Given the description of an element on the screen output the (x, y) to click on. 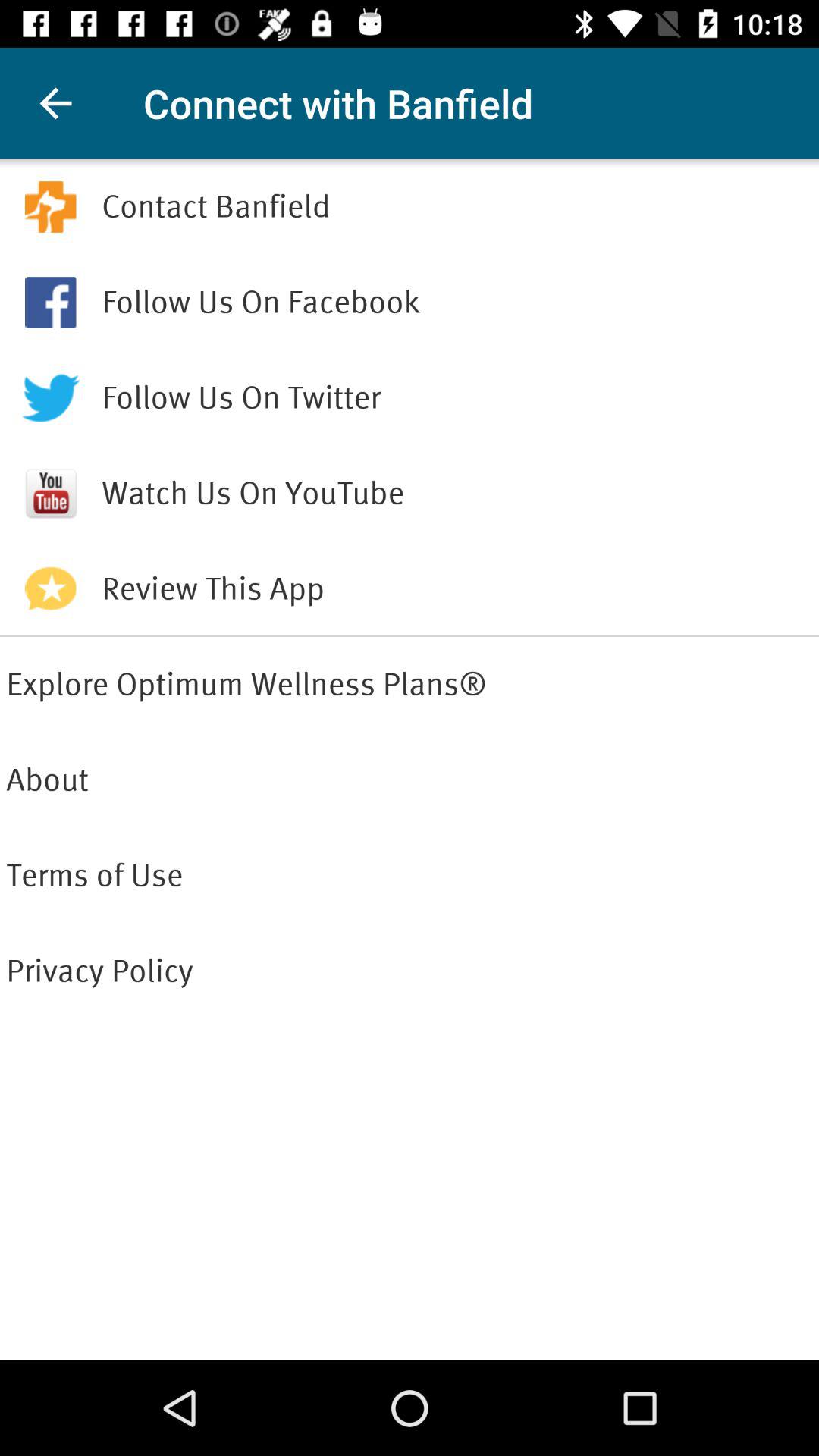
tap icon above the follow us on item (457, 206)
